Given the description of an element on the screen output the (x, y) to click on. 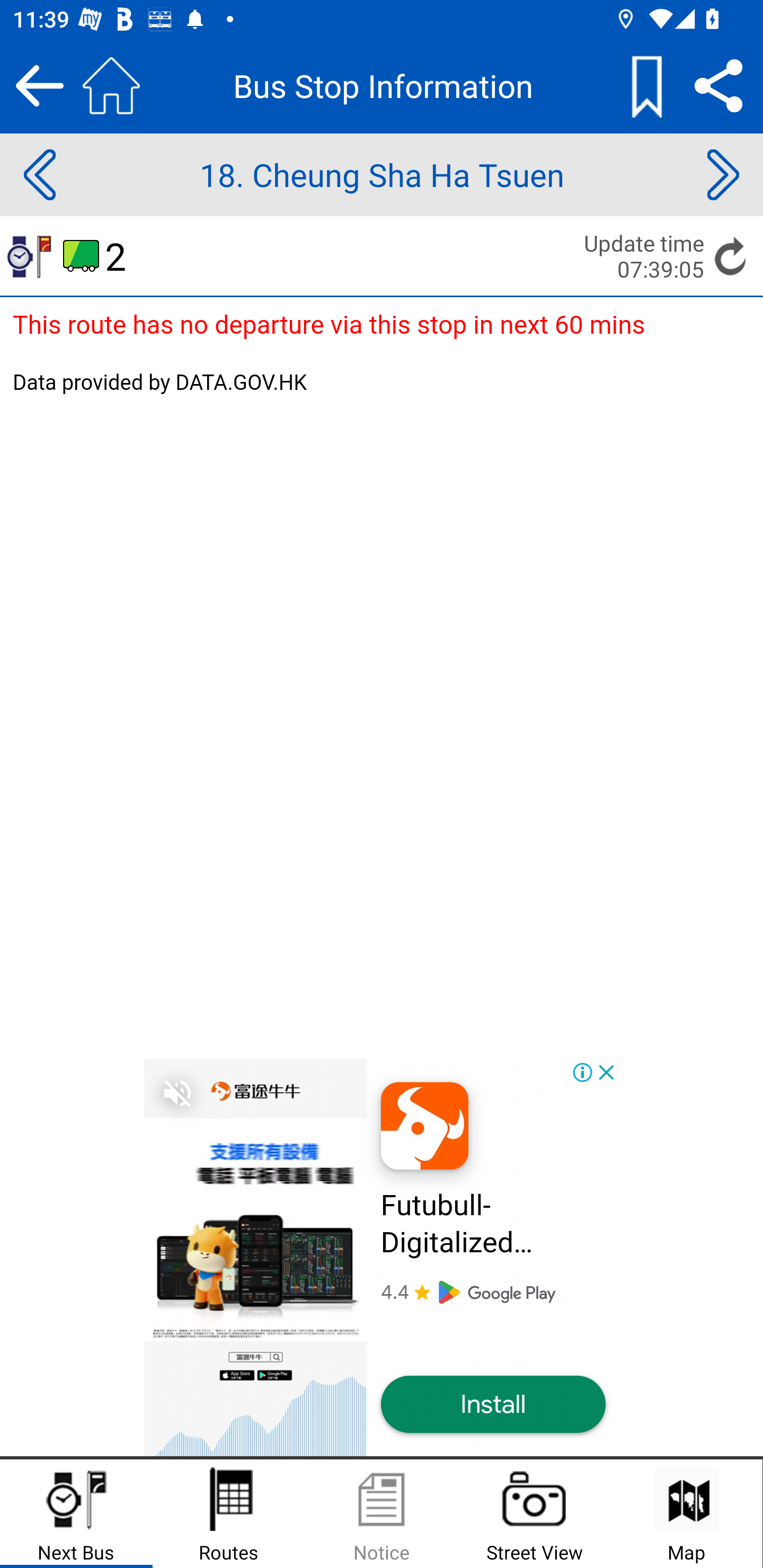
Jump to home page (111, 85)
Add bookmark (646, 85)
Share point to point route search criteria) (718, 85)
Back (39, 85)
Previous stop (39, 174)
Next stop (723, 174)
Refresh (731, 255)
Install (492, 1404)
Next Bus (76, 1513)
Routes (228, 1513)
Notice (381, 1513)
Street View (533, 1513)
Map (686, 1513)
